Given the description of an element on the screen output the (x, y) to click on. 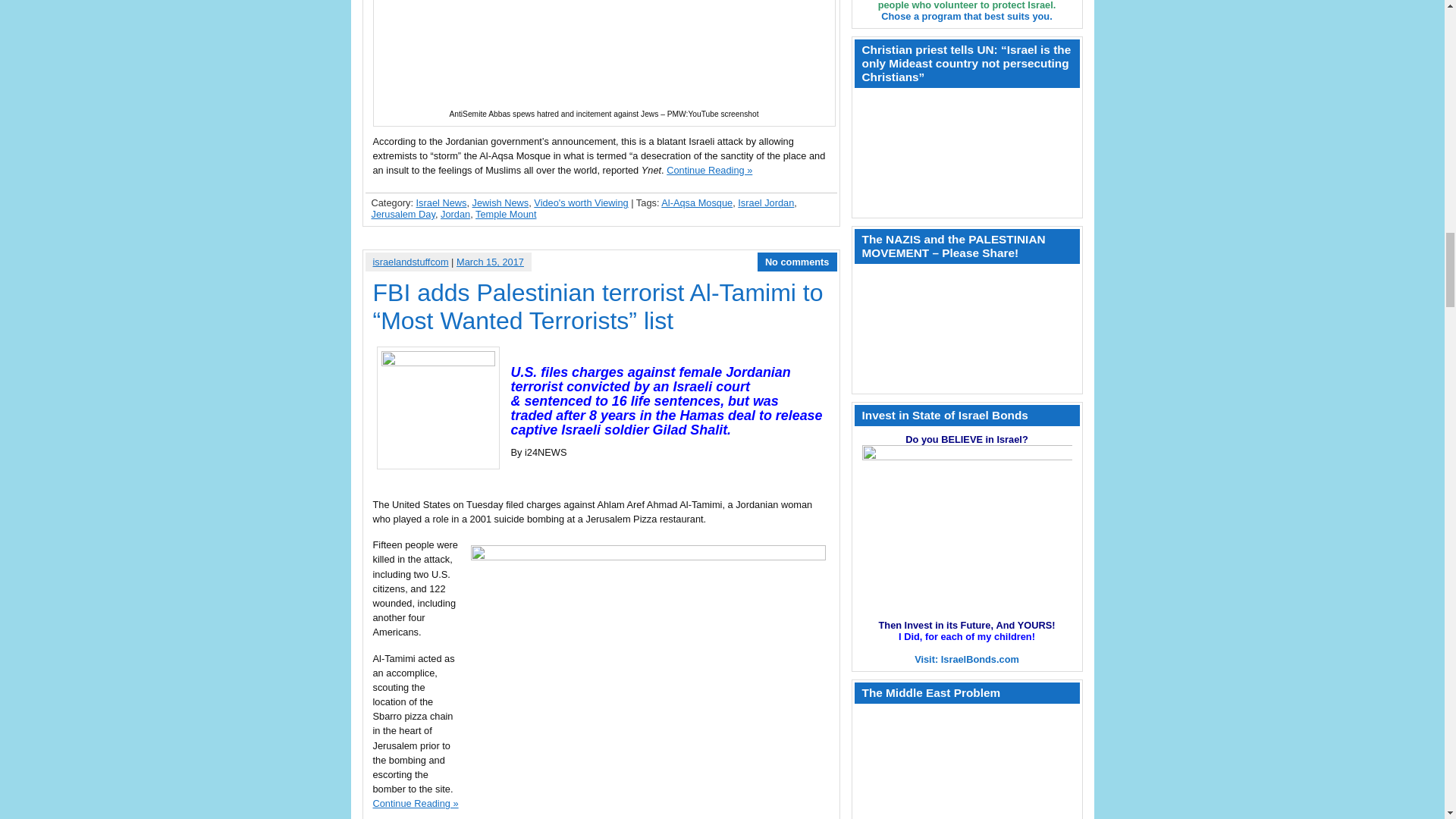
Posts by israelandstuffcom (410, 261)
